Given the description of an element on the screen output the (x, y) to click on. 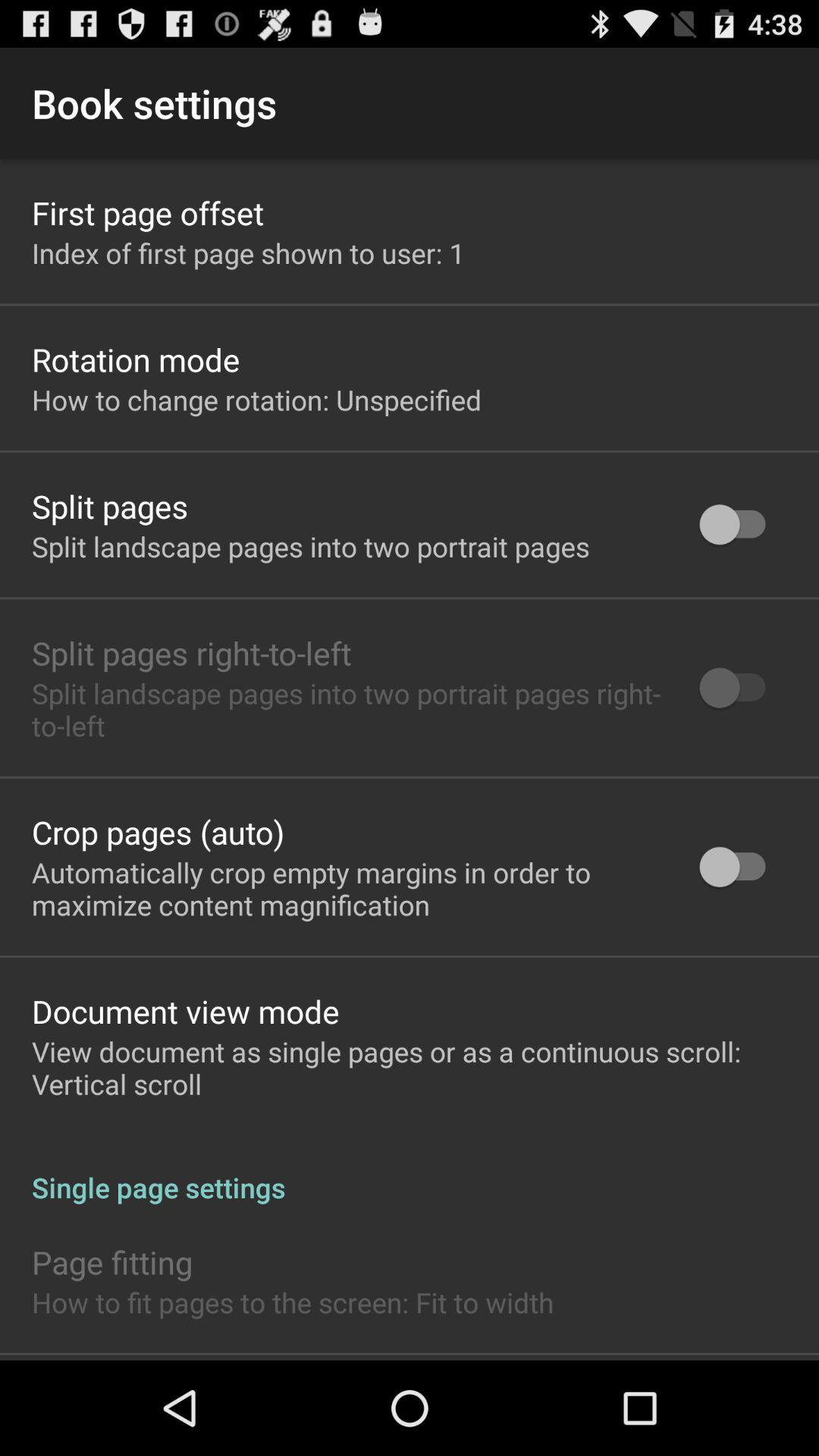
choose icon below the crop pages (auto) app (345, 888)
